Given the description of an element on the screen output the (x, y) to click on. 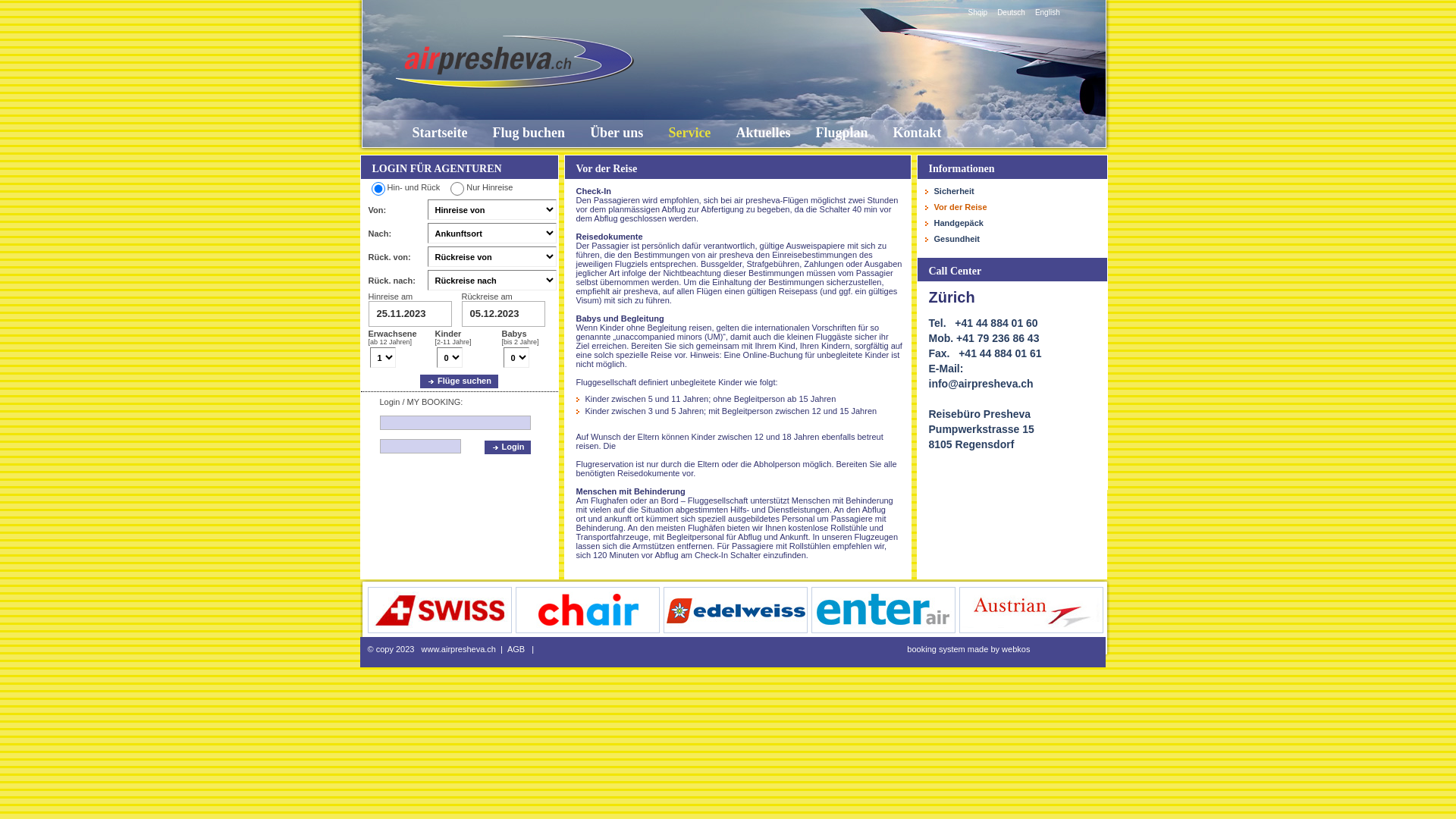
Aktuelles Element type: text (762, 132)
Flug buchen Element type: text (528, 132)
Service Element type: text (689, 132)
www.airpresheva.ch Element type: text (458, 648)
Startseite Element type: text (439, 132)
Shqip Element type: text (976, 12)
Gesundheit Element type: text (1012, 240)
Vor der Reise Element type: text (1012, 208)
AGB Element type: text (516, 648)
info@airpresheva.ch Element type: text (980, 383)
Calender Element type: hover (502, 313)
Kontakt Element type: text (917, 132)
Calender Element type: hover (409, 313)
Login Element type: text (506, 447)
English Element type: text (1045, 12)
Sicherheit Element type: text (1012, 192)
Deutsch Element type: text (1009, 12)
booking system made by webkos Element type: text (968, 648)
Flugplan Element type: text (841, 132)
